Given the description of an element on the screen output the (x, y) to click on. 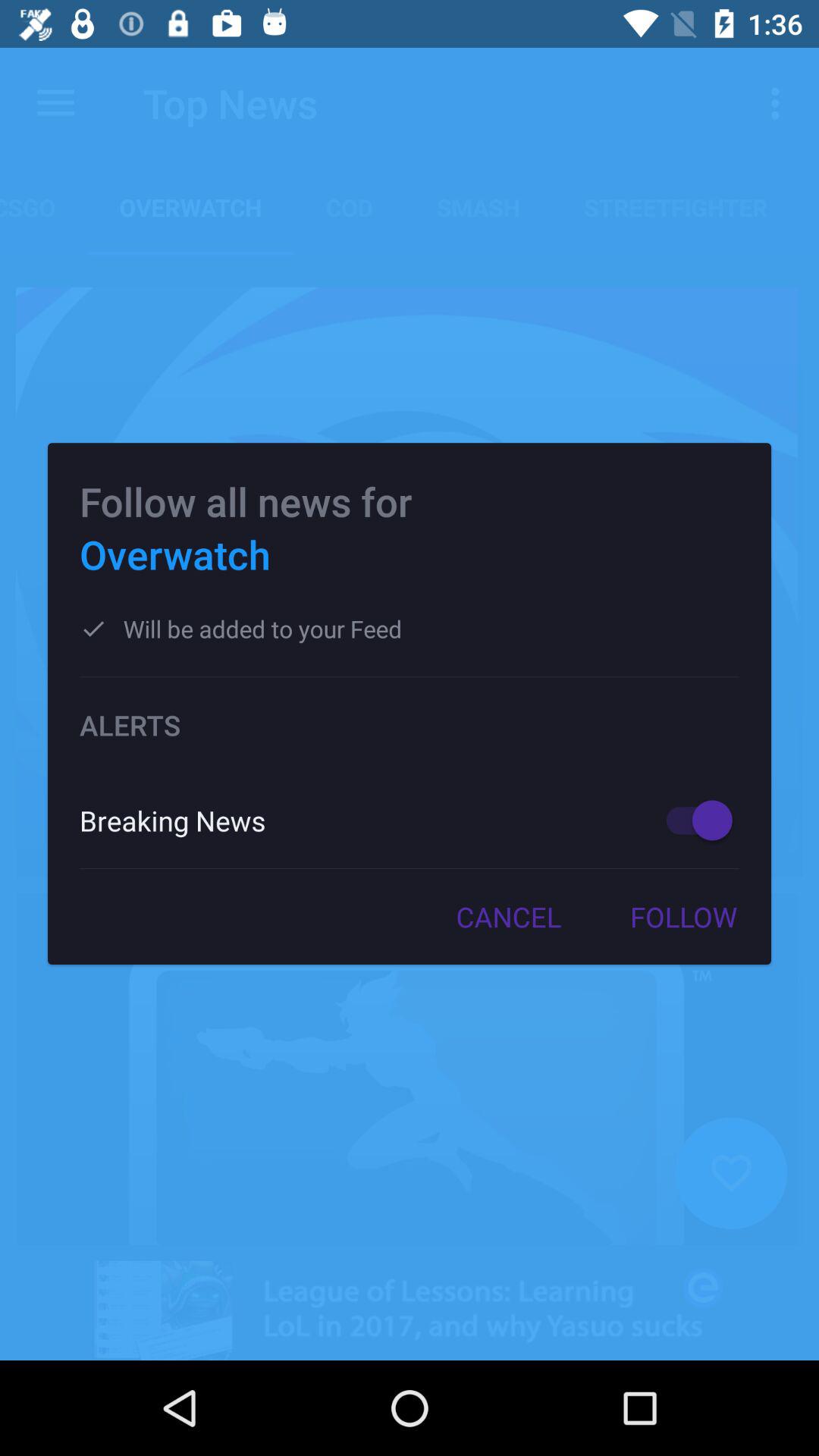
subscription option (691, 820)
